Given the description of an element on the screen output the (x, y) to click on. 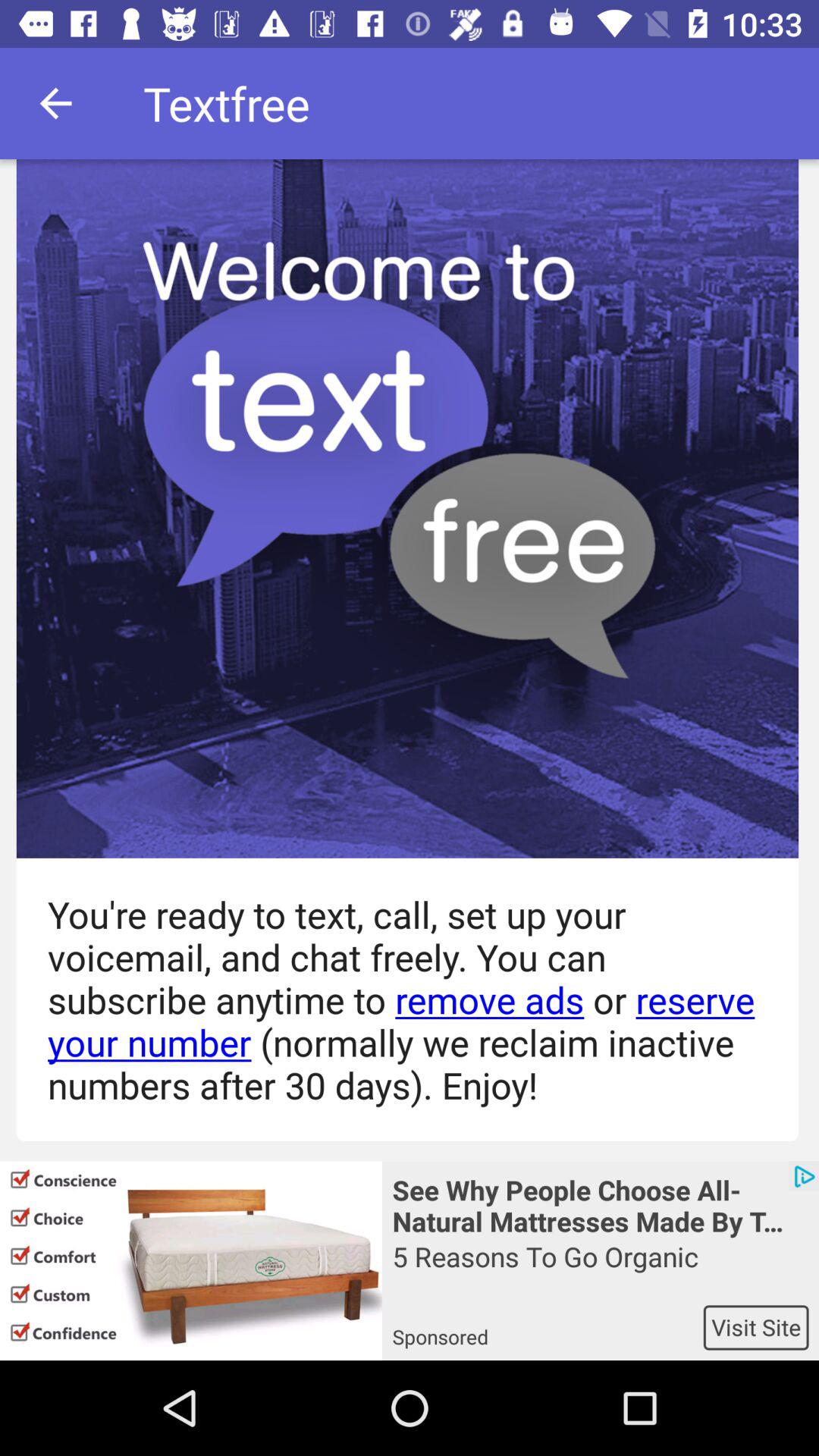
turn on icon to the left of see why people (191, 1260)
